Given the description of an element on the screen output the (x, y) to click on. 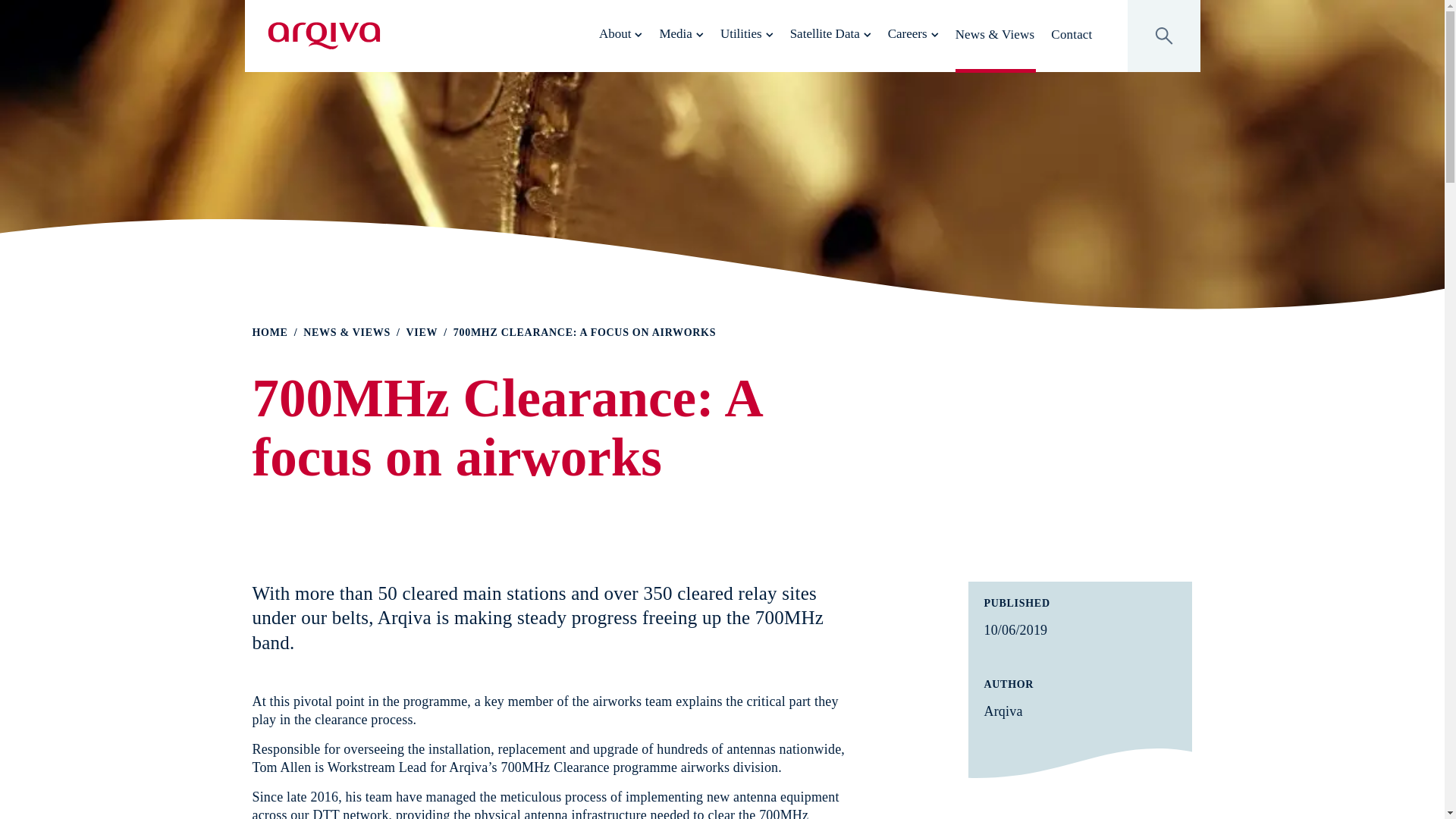
Utilities (746, 34)
Media (680, 34)
Arqiva (323, 35)
About (620, 34)
Satellite Data (831, 34)
